Given the description of an element on the screen output the (x, y) to click on. 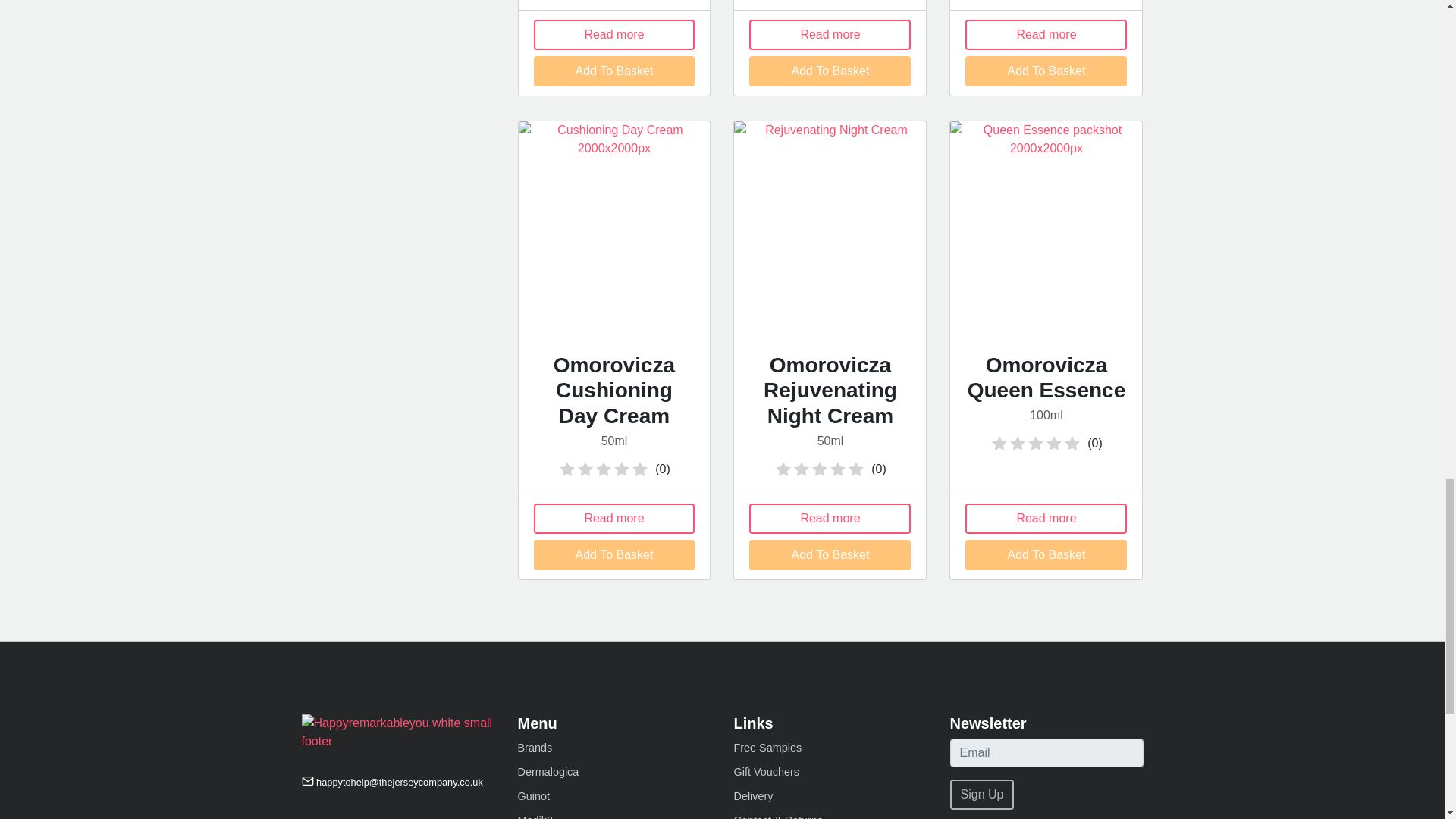
Read more (830, 34)
Add To Basket (830, 71)
Add To Basket (614, 71)
Read more (614, 34)
